Given the description of an element on the screen output the (x, y) to click on. 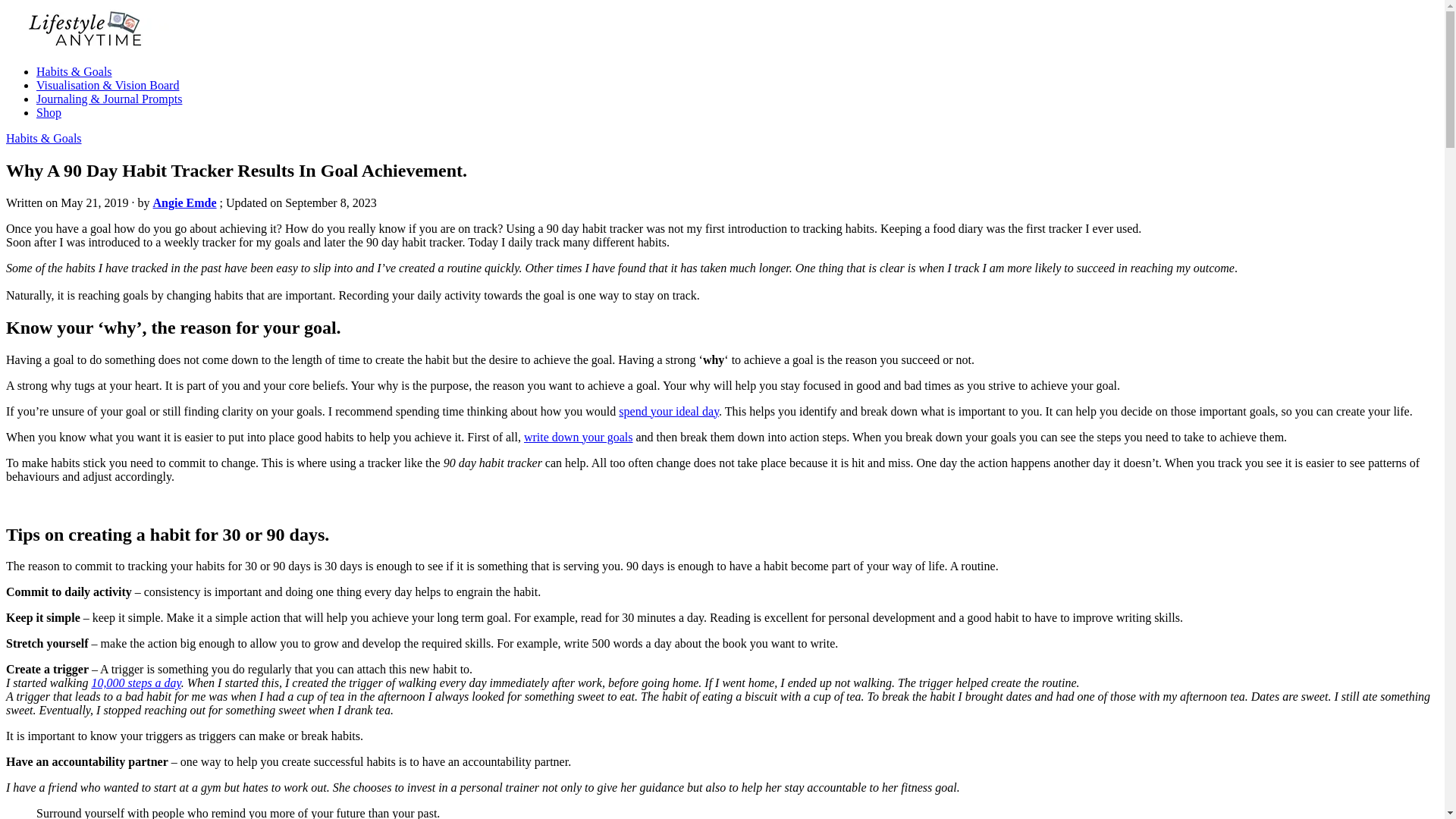
Habits & Goals Element type: text (74, 71)
Lifestyle Anytime Element type: text (50, 71)
write down your goals Element type: text (578, 436)
Visualisation & Vision Board Element type: text (107, 84)
10,000 steps a day Element type: text (135, 682)
Angie Emde Element type: text (184, 202)
Habits & Goals Element type: text (43, 137)
spend your ideal day Element type: text (668, 410)
Journaling & Journal Prompts Element type: text (109, 98)
Shop Element type: text (48, 112)
